Given the description of an element on the screen output the (x, y) to click on. 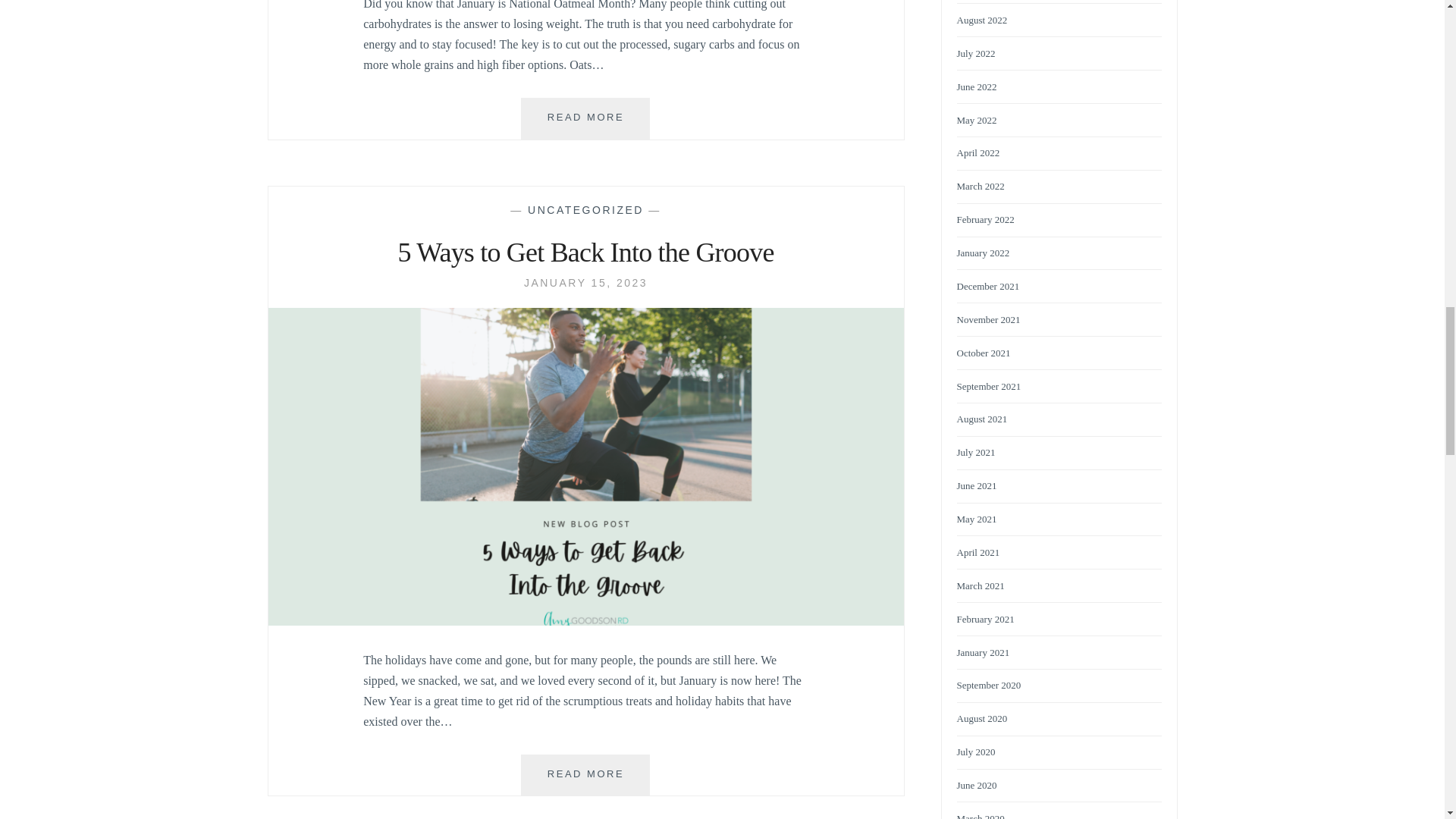
UNCATEGORIZED (585, 117)
5 Ways to Get Back Into the Groove (585, 209)
5 Ways to Get Back Into the Groove (585, 621)
5 Ways to Get Back Into the Groove (585, 253)
JANUARY 15, 2023 (585, 282)
